Given the description of an element on the screen output the (x, y) to click on. 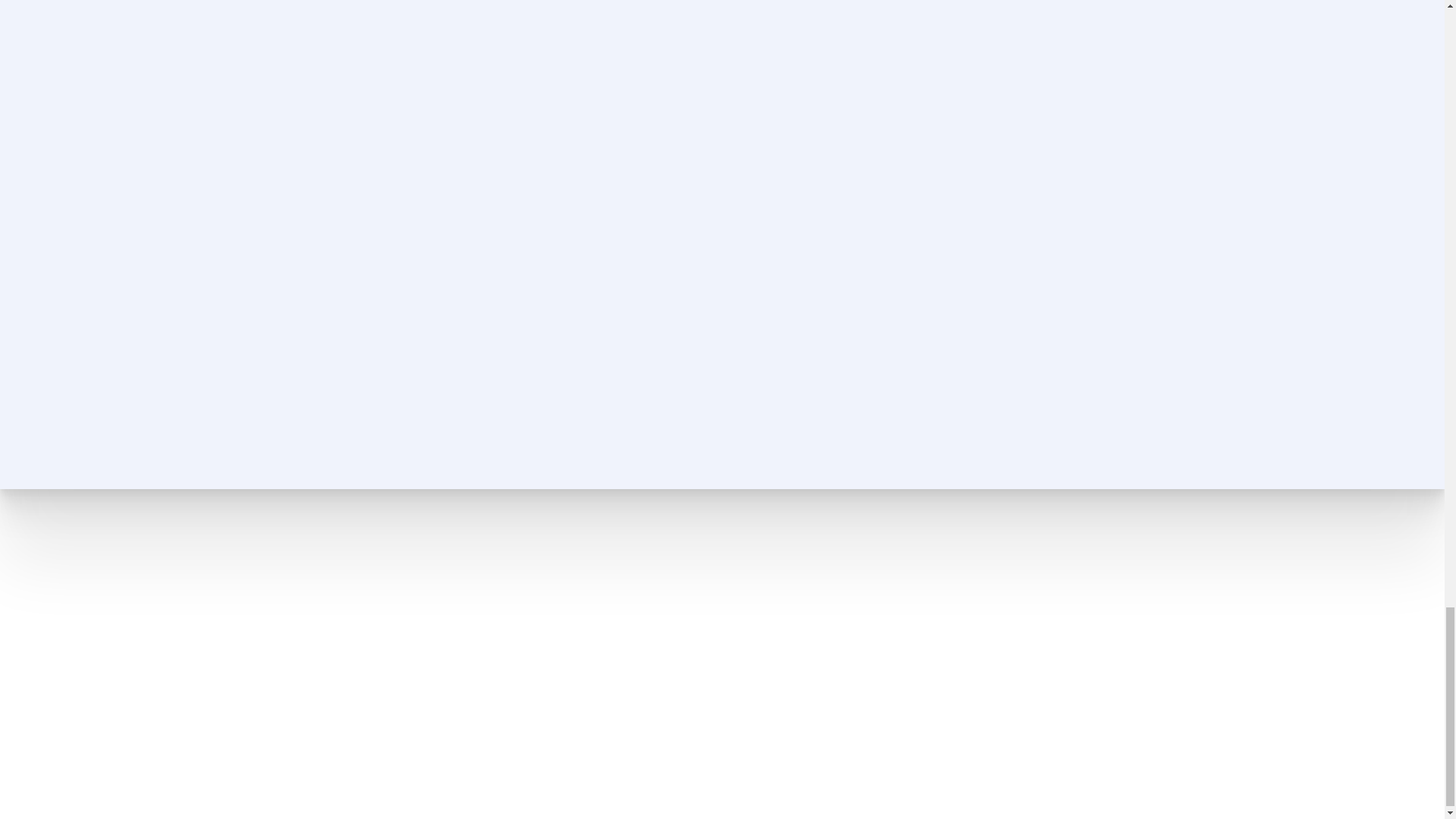
Submit Form (1006, 376)
